Given the description of an element on the screen output the (x, y) to click on. 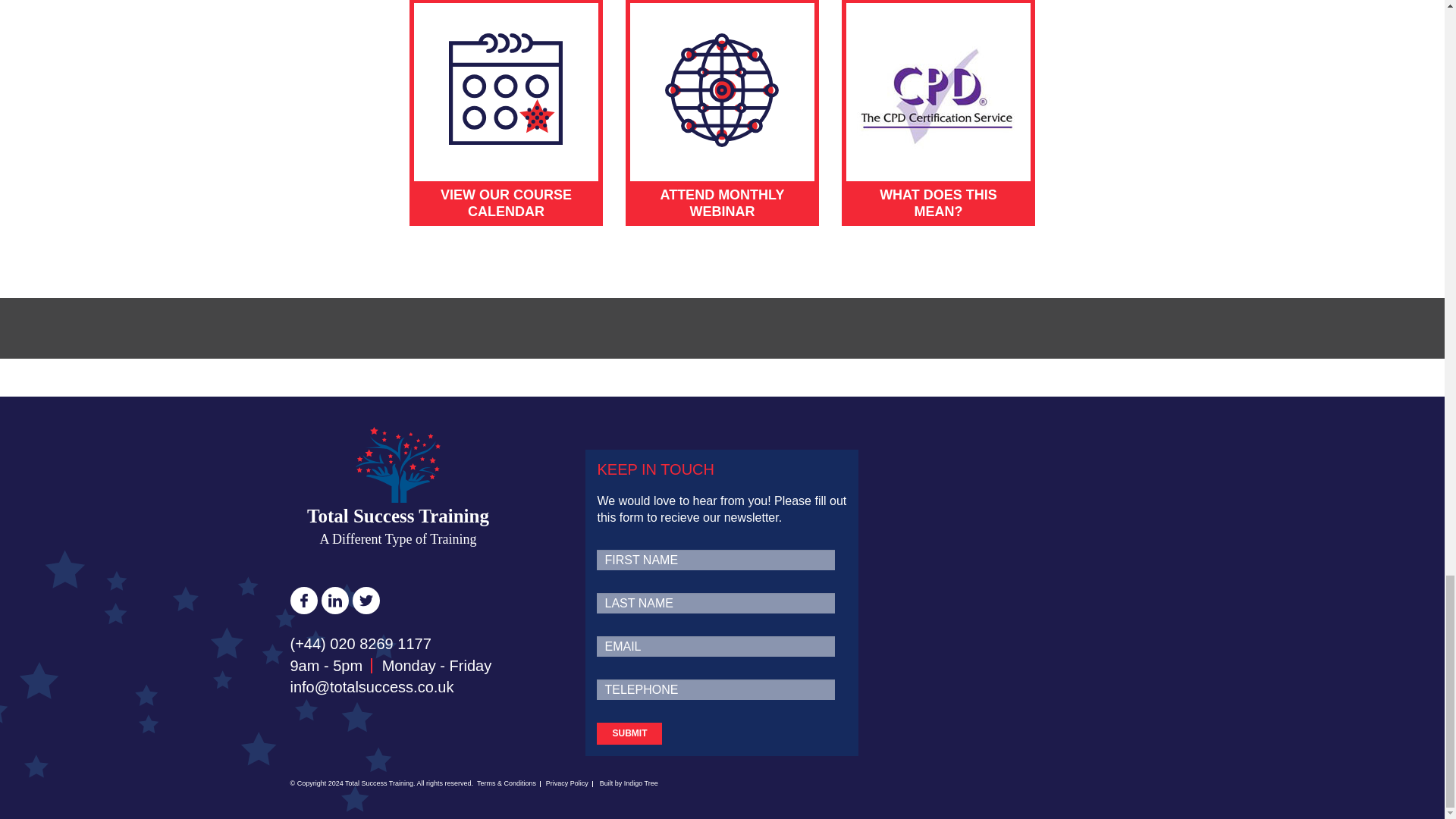
Submit (629, 733)
Total Success Training (397, 487)
